Given the description of an element on the screen output the (x, y) to click on. 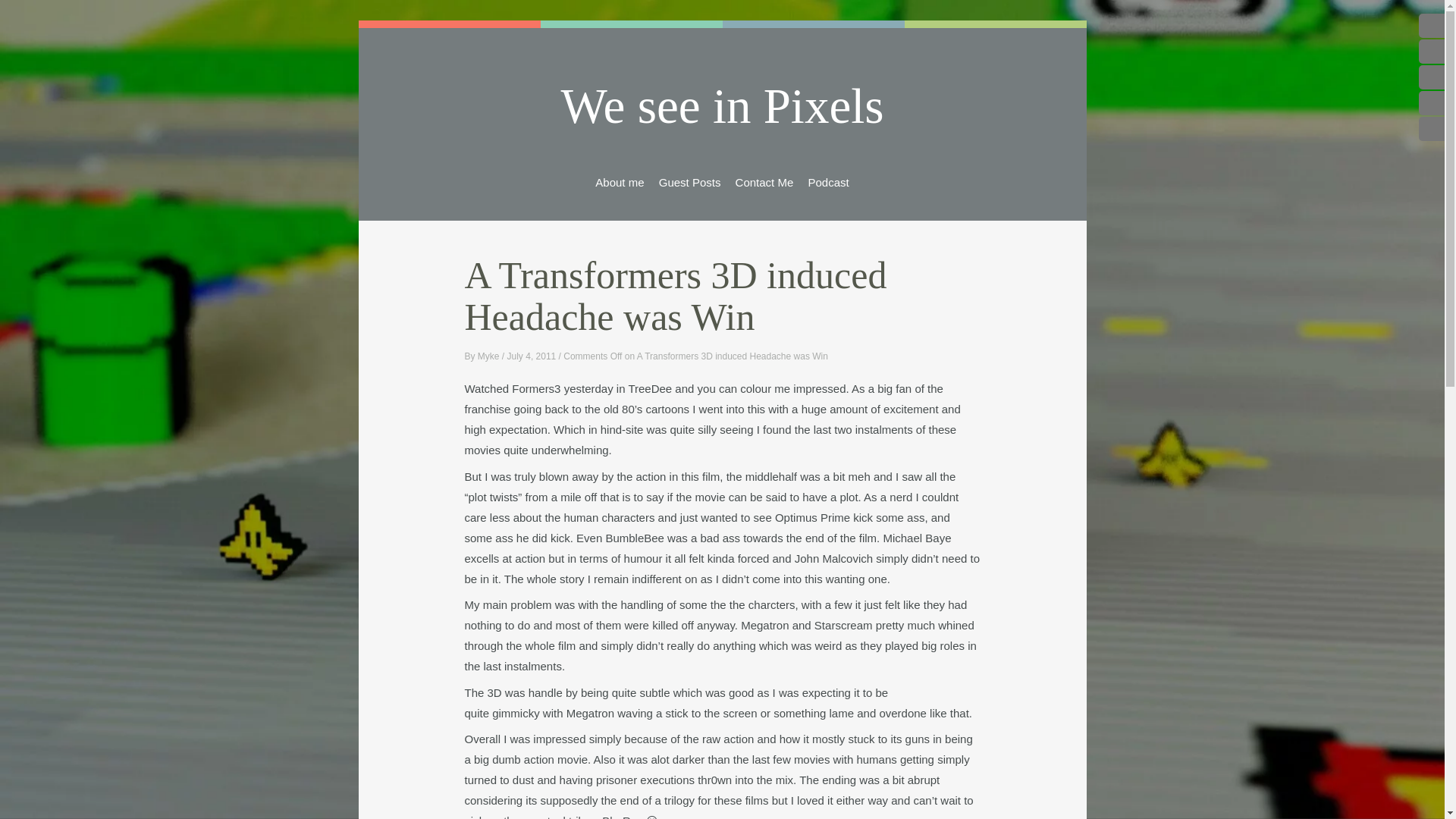
Myke (488, 356)
Posts by Myke (488, 356)
Contact Me (764, 181)
Go to Home (721, 105)
About me (619, 181)
We see in Pixels (721, 105)
Guest Posts (689, 181)
Podcast (828, 181)
